Given the description of an element on the screen output the (x, y) to click on. 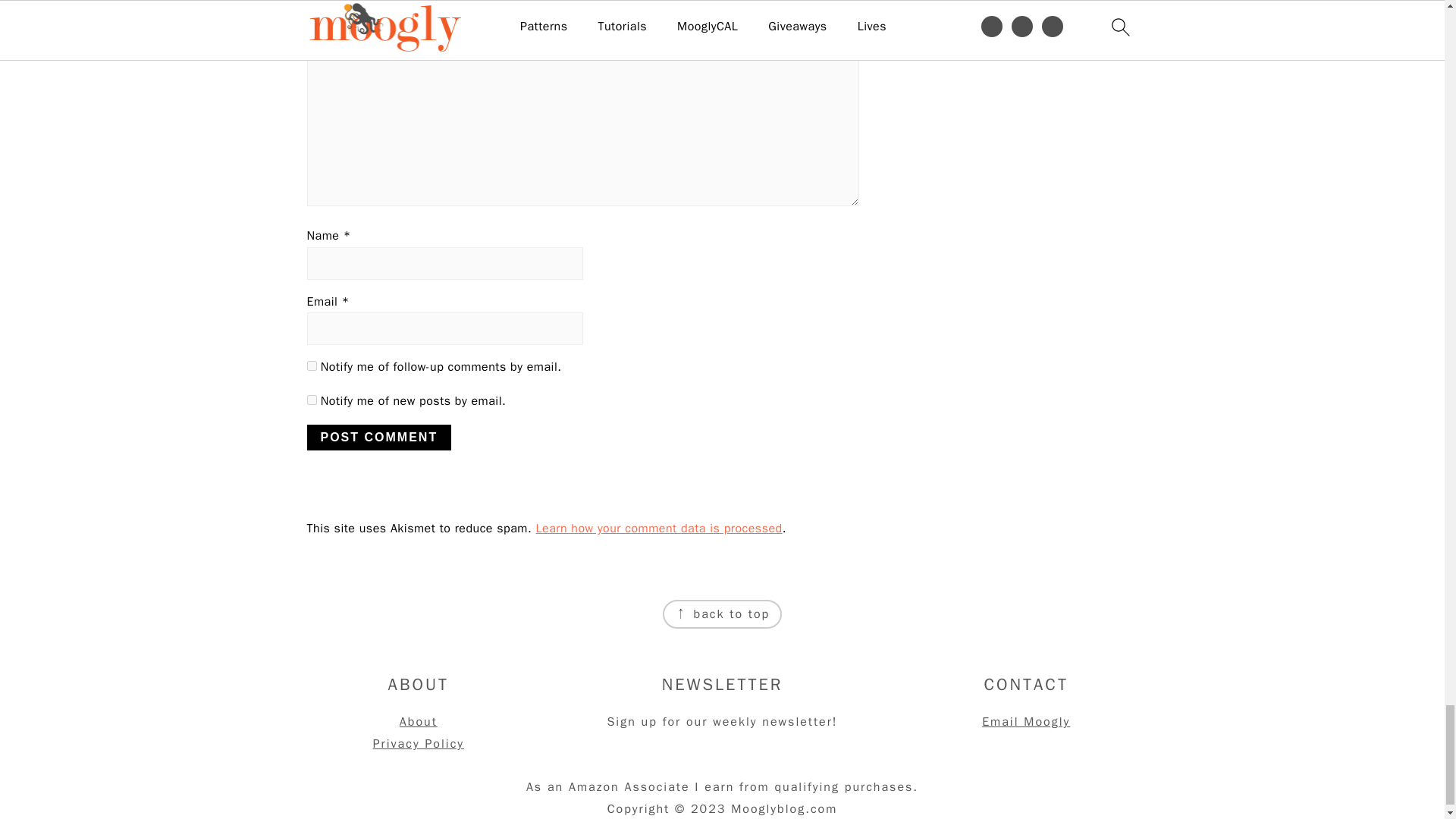
subscribe (310, 399)
subscribe (310, 366)
Post Comment (378, 437)
